Given the description of an element on the screen output the (x, y) to click on. 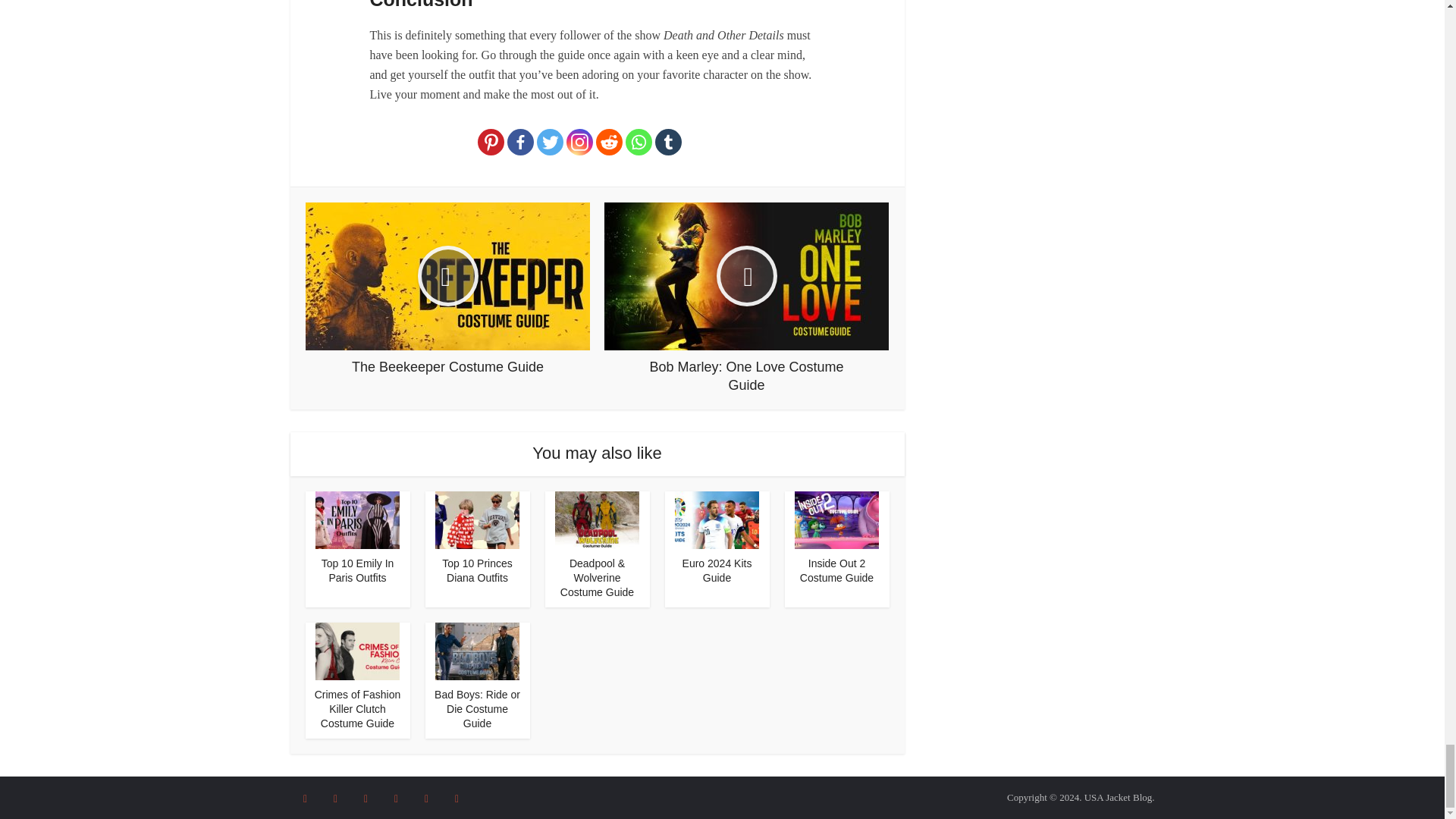
Whatsapp (639, 141)
Pinterest (490, 141)
Facebook (520, 141)
Tumblr (668, 141)
Euro 2024 Kits Guide (717, 570)
Top 10 Princes Diana Outfits (477, 570)
Reddit (609, 141)
Top 10 Emily In Paris Outfits (357, 570)
Top 10 Emily In Paris Outfits (356, 517)
Instagram (579, 141)
